Given the description of an element on the screen output the (x, y) to click on. 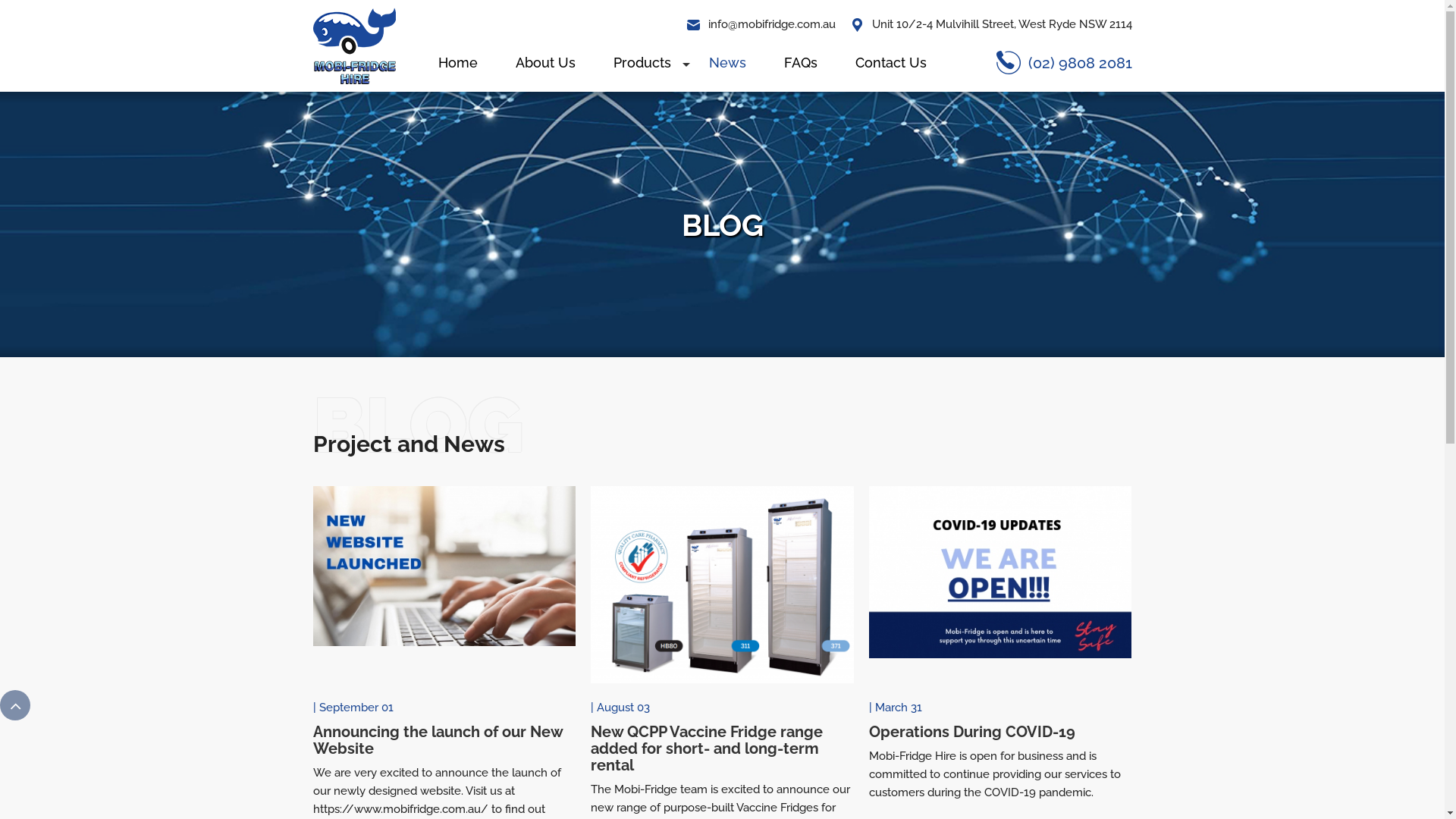
Operations During COVID-19 Element type: text (1000, 731)
Announcing the launch of our New Website Element type: hover (443, 565)
News Element type: text (727, 62)
Operations During COVID-19 Element type: hover (1000, 570)
+
Products Element type: text (642, 62)
Mobi-Fridge Hire Element type: hover (353, 44)
(02) 9808 2081 Element type: text (1064, 62)
FAQs Element type: text (799, 62)
About Us Element type: text (544, 62)
Announcing the launch of our New Website Element type: text (443, 739)
Home Element type: text (456, 62)
Contact Us Element type: text (889, 62)
